Given the description of an element on the screen output the (x, y) to click on. 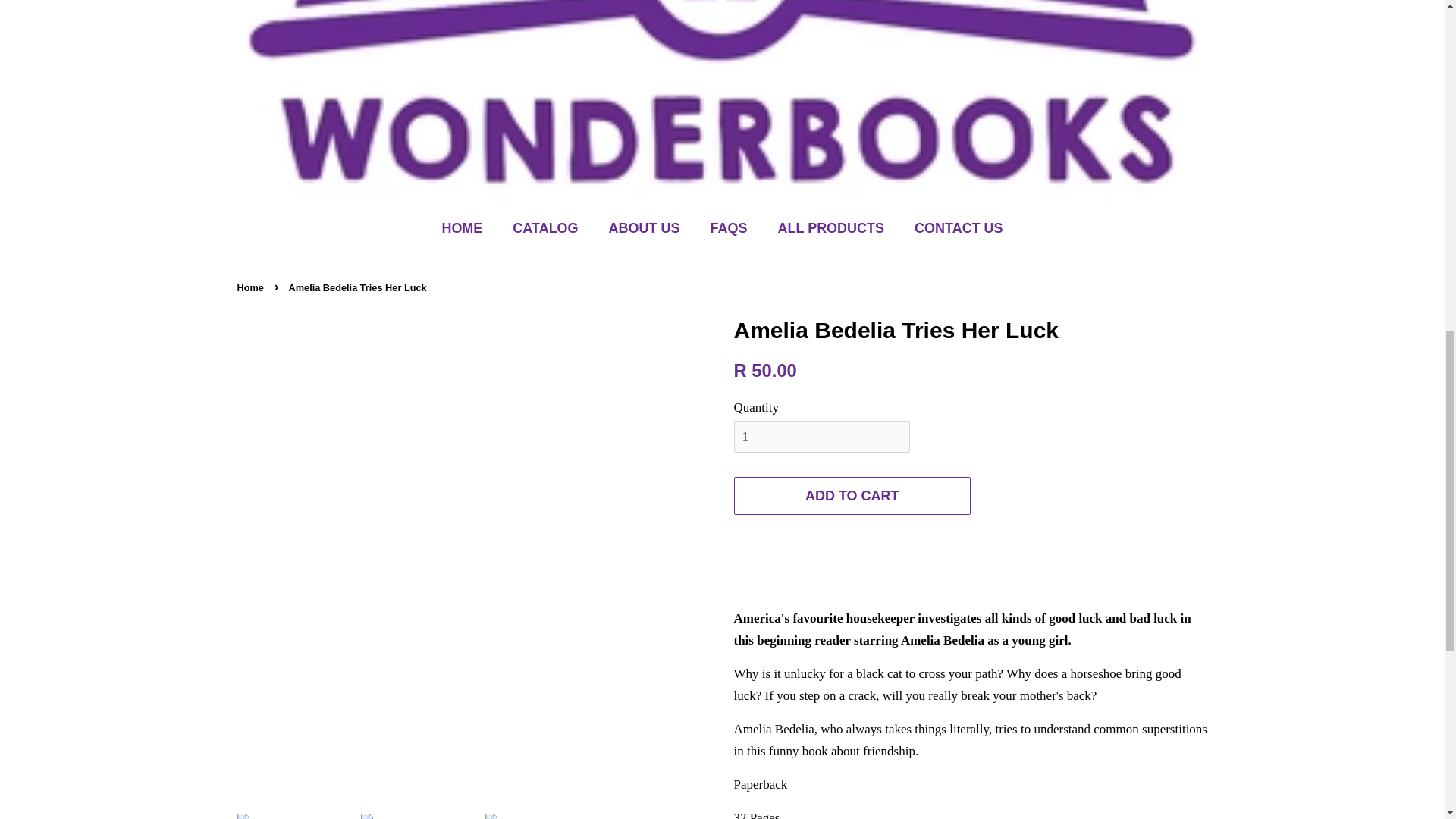
ALL PRODUCTS (832, 228)
Back to the frontpage (250, 287)
Home (250, 287)
CATALOG (546, 228)
FAQS (730, 228)
CONTACT US (952, 228)
1 (821, 436)
ADD TO CART (852, 495)
HOME (469, 228)
ABOUT US (645, 228)
